Given the description of an element on the screen output the (x, y) to click on. 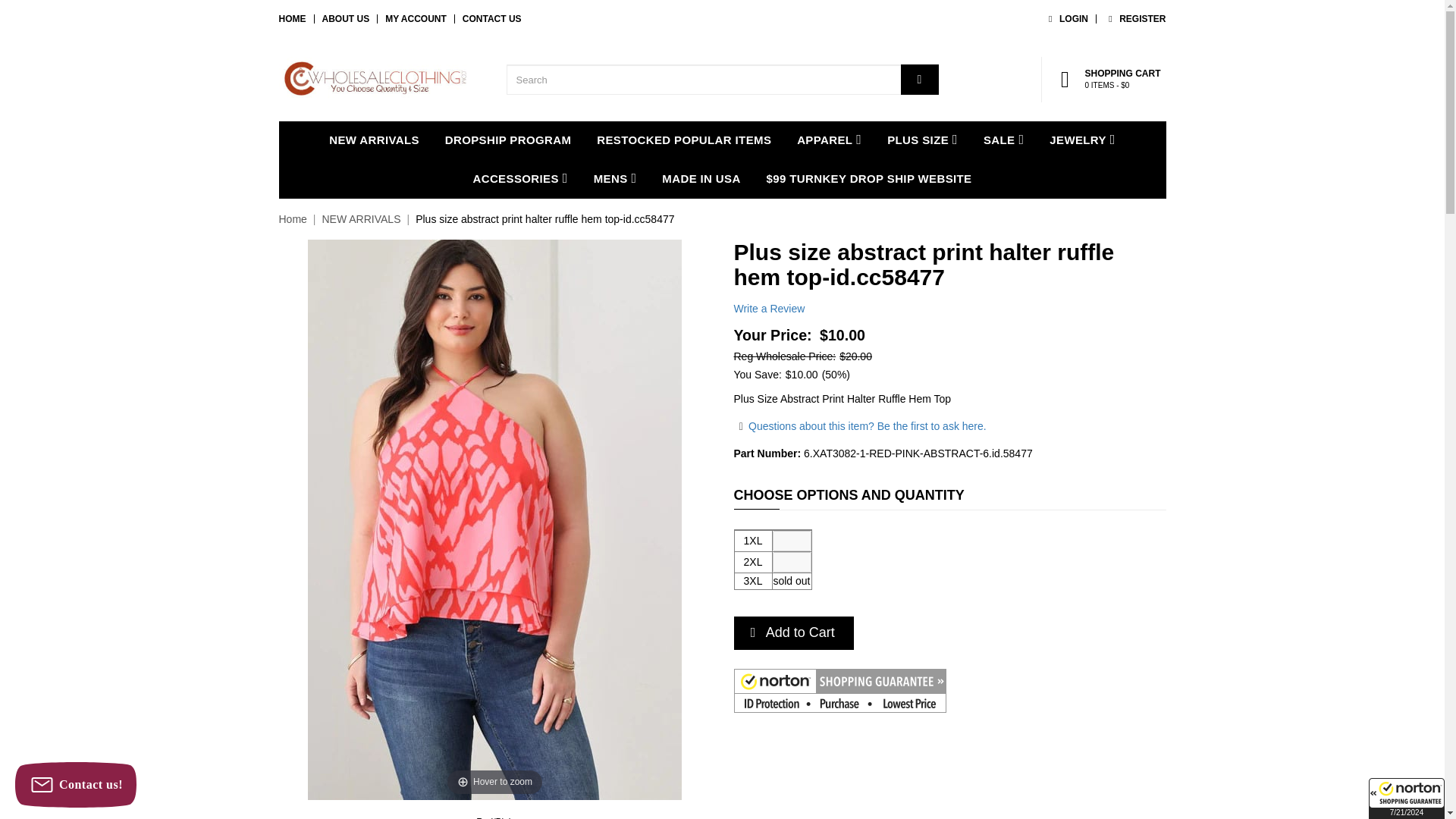
DROPSHIP PROGRAM (508, 140)
APPAREL (829, 139)
LOGIN (1065, 18)
SALE (1003, 139)
ABOUT US (345, 18)
RESTOCKED POPULAR ITEMS (684, 140)
MY ACCOUNT (415, 18)
NEW ARRIVALS (373, 140)
HOME (292, 18)
REGISTER (1134, 18)
CONTACT US (492, 18)
PLUS SIZE (922, 139)
